Given the description of an element on the screen output the (x, y) to click on. 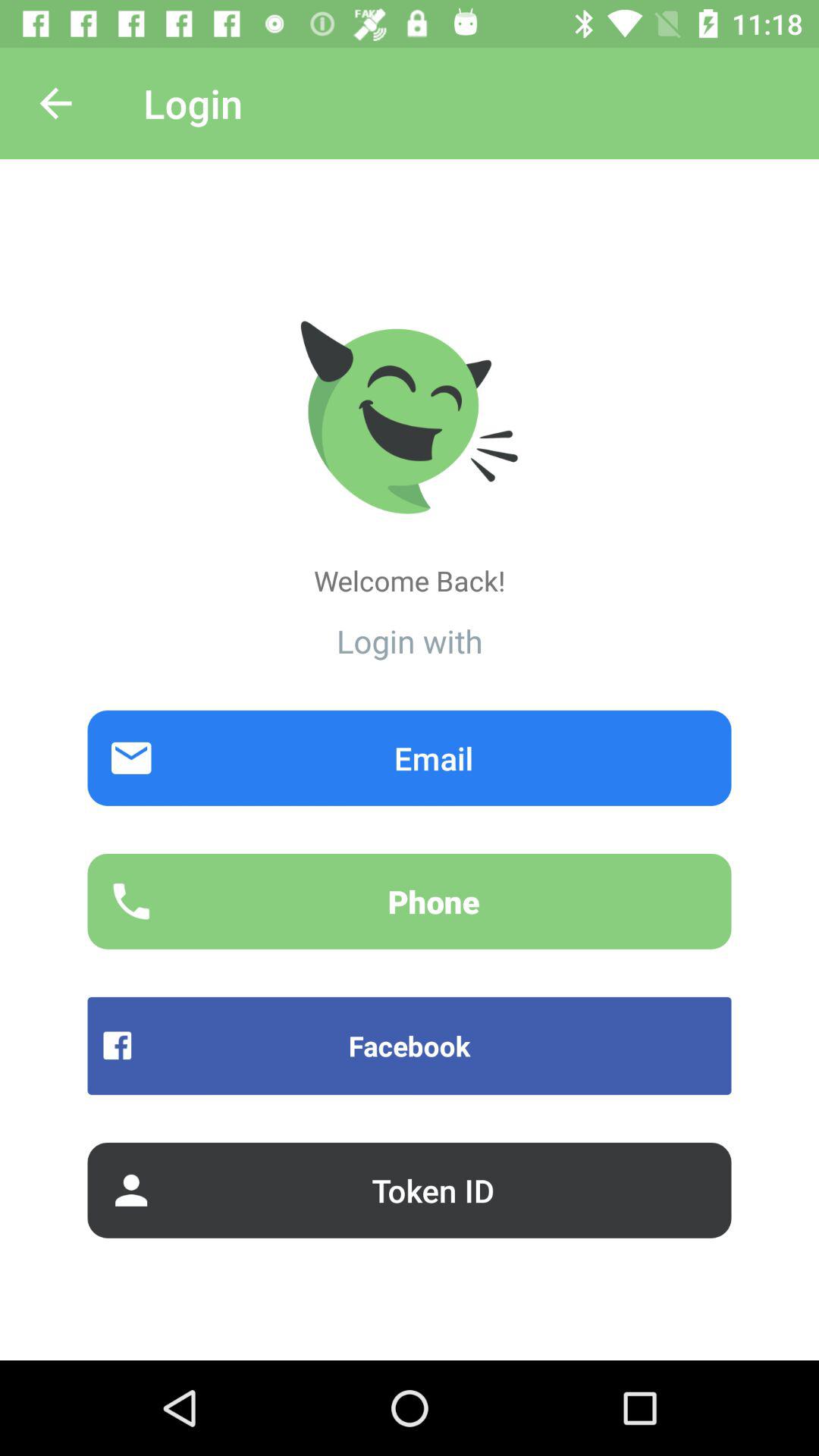
open the item below the login with item (409, 757)
